Given the description of an element on the screen output the (x, y) to click on. 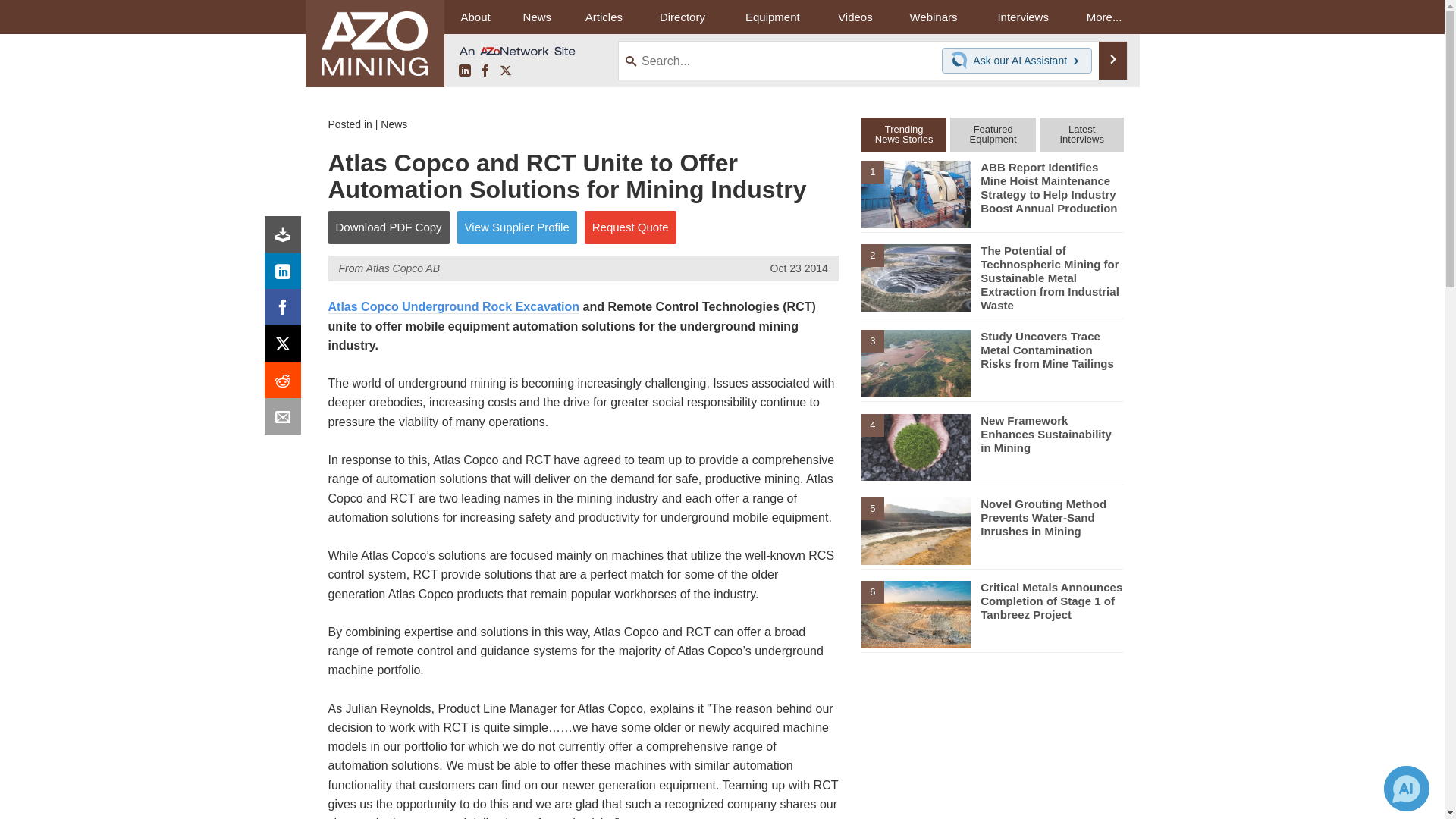
Email (285, 420)
Chat with our AI Assistant Ask our AI Assistant (1017, 60)
Chat with our AI Assistant (962, 60)
News (536, 17)
LinkedIn (464, 71)
Directory (681, 17)
Interviews (1022, 17)
Facebook (485, 71)
More... (1104, 17)
Webinars (932, 17)
X (505, 71)
Reddit (285, 384)
Videos (855, 17)
X (285, 348)
